Given the description of an element on the screen output the (x, y) to click on. 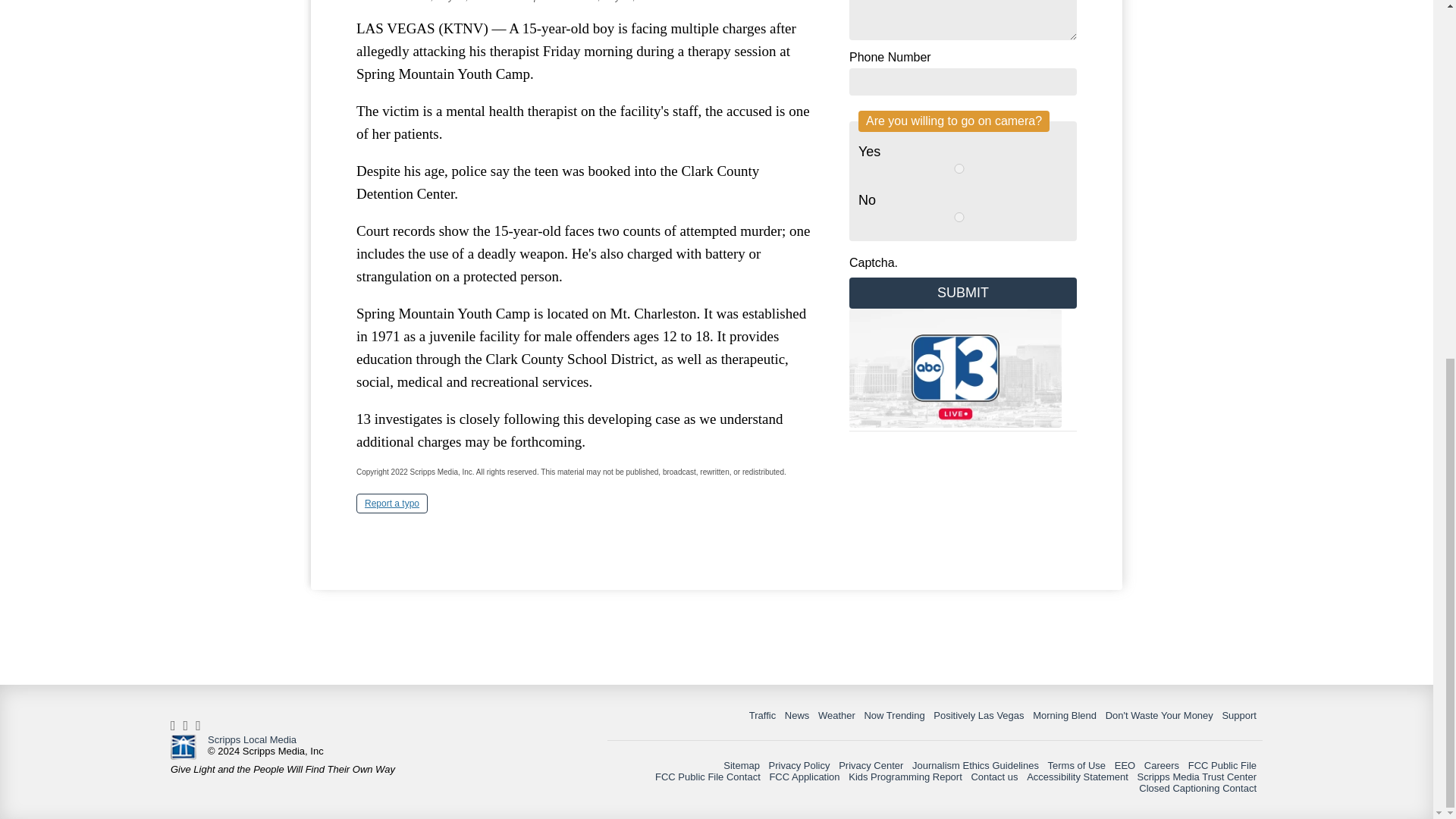
no (959, 216)
yes (959, 168)
